Given the description of an element on the screen output the (x, y) to click on. 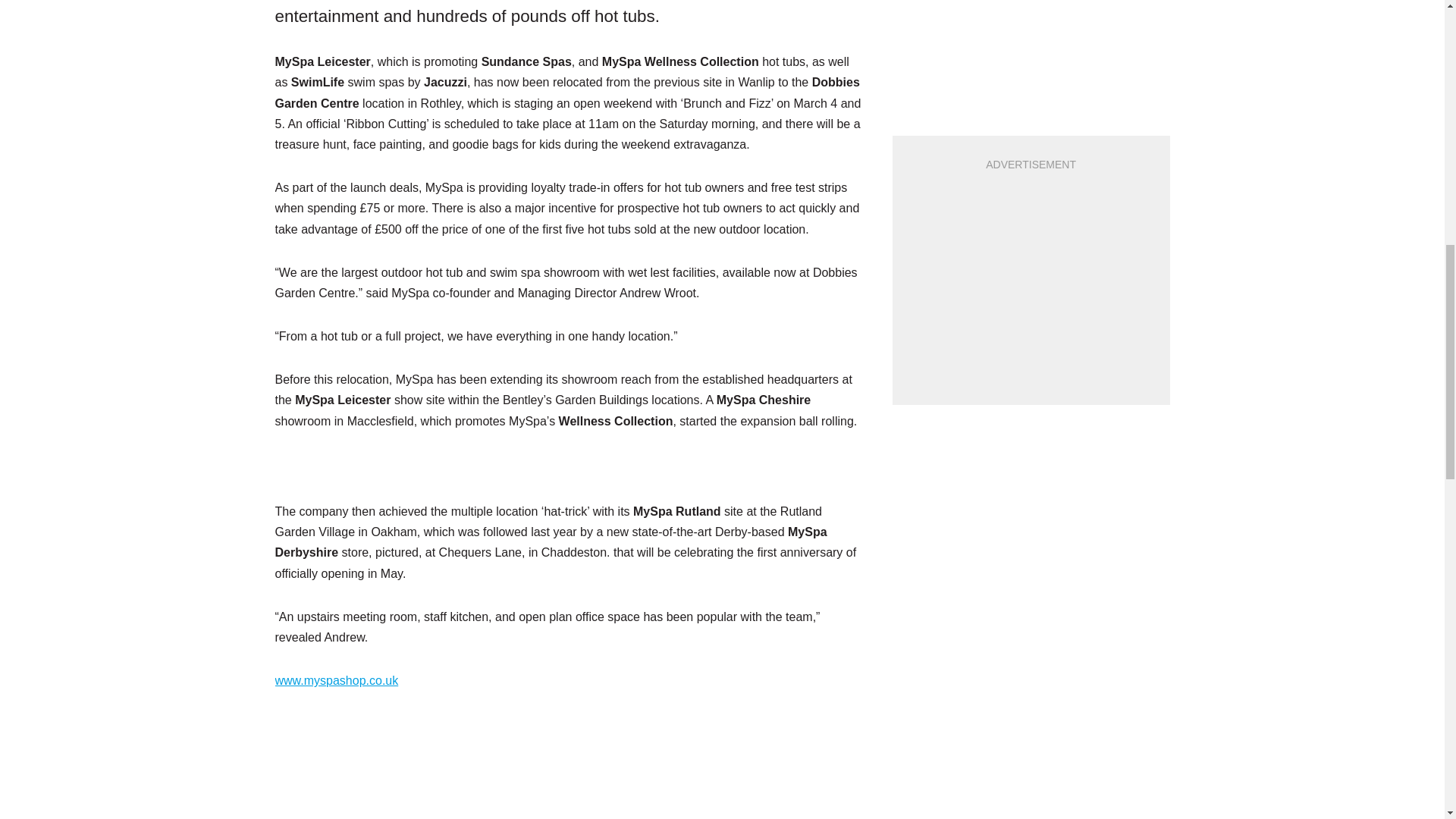
www.myspashop.co.uk (336, 680)
